Given the description of an element on the screen output the (x, y) to click on. 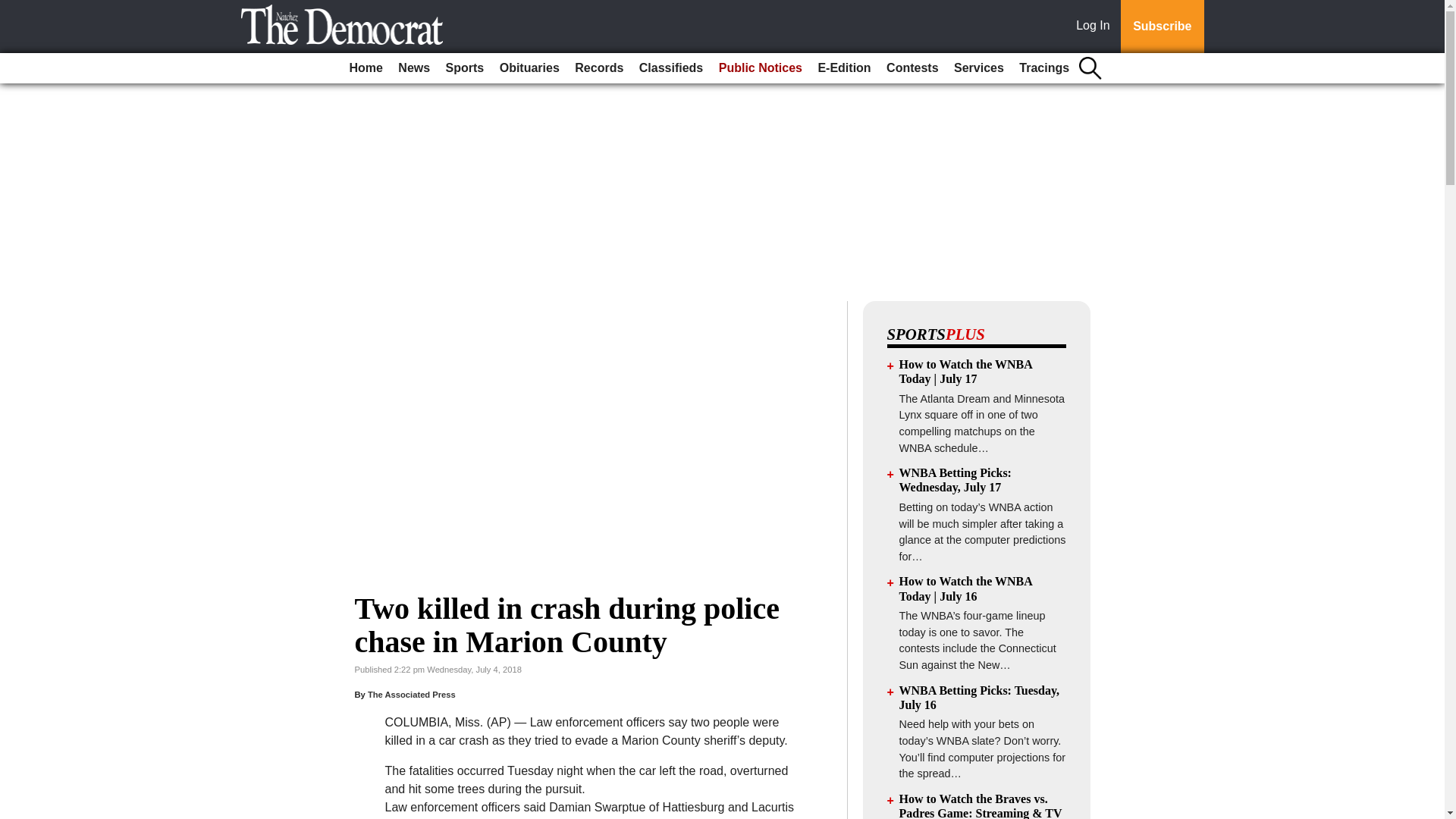
Services (978, 68)
News (413, 68)
Log In (1095, 26)
Obituaries (529, 68)
Classifieds (671, 68)
Home (365, 68)
Go (13, 9)
E-Edition (843, 68)
Records (598, 68)
Public Notices (760, 68)
Contests (911, 68)
Sports (464, 68)
Subscribe (1162, 26)
Tracings (1044, 68)
The Associated Press (411, 694)
